Given the description of an element on the screen output the (x, y) to click on. 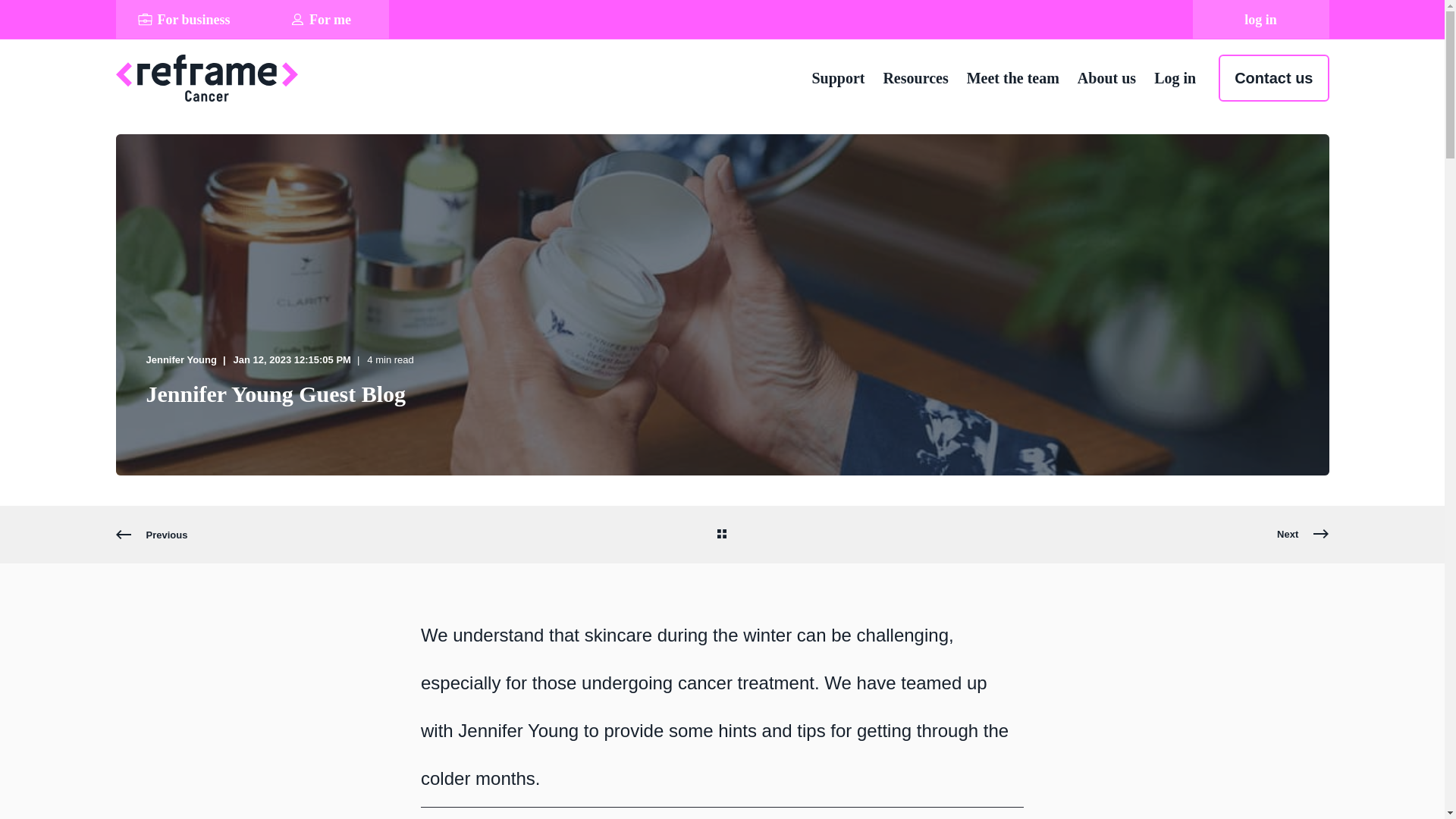
For business (183, 19)
Support (841, 78)
Resources (914, 78)
log in (1259, 19)
logo (206, 77)
Meet the team (1013, 78)
For me (319, 19)
Button Contact us (1272, 77)
